Given the description of an element on the screen output the (x, y) to click on. 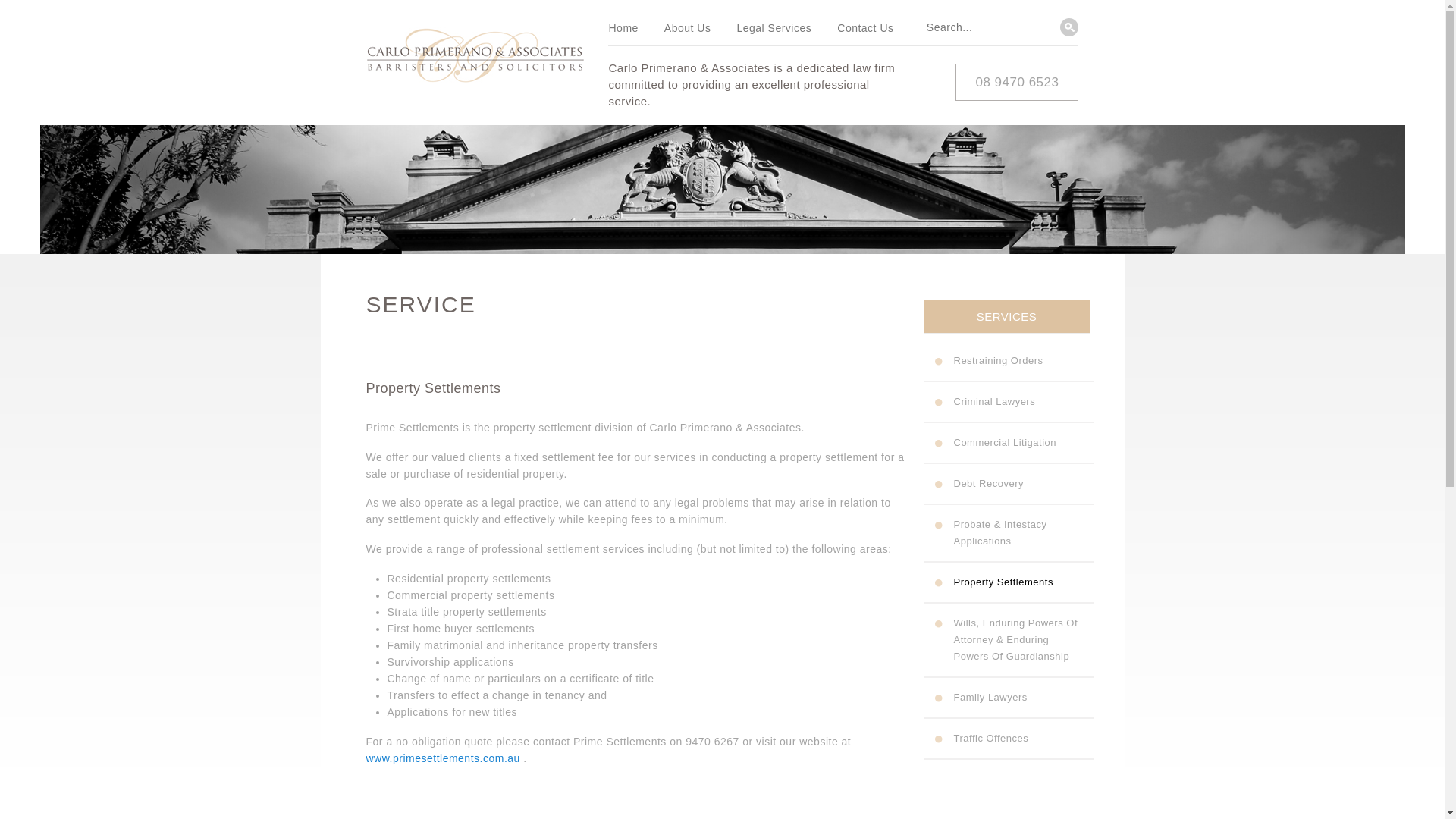
Criminal Lawyers Element type: text (994, 401)
Contact Us Element type: text (865, 30)
Probate & Intestacy Applications Element type: text (1000, 532)
Legal Services Element type: text (773, 30)
www.primesettlements.com.au Element type: text (442, 758)
Carlo Primerano & Associates Element type: hover (474, 62)
Property Settlements Element type: text (1003, 581)
About Us Element type: text (687, 30)
Commercial Litigation Element type: text (1005, 442)
Home Element type: text (622, 30)
Debt Recovery Element type: text (988, 483)
Restraining Orders Element type: text (998, 360)
Family Lawyers Element type: text (990, 696)
Traffic Offences Element type: text (991, 737)
